Given the description of an element on the screen output the (x, y) to click on. 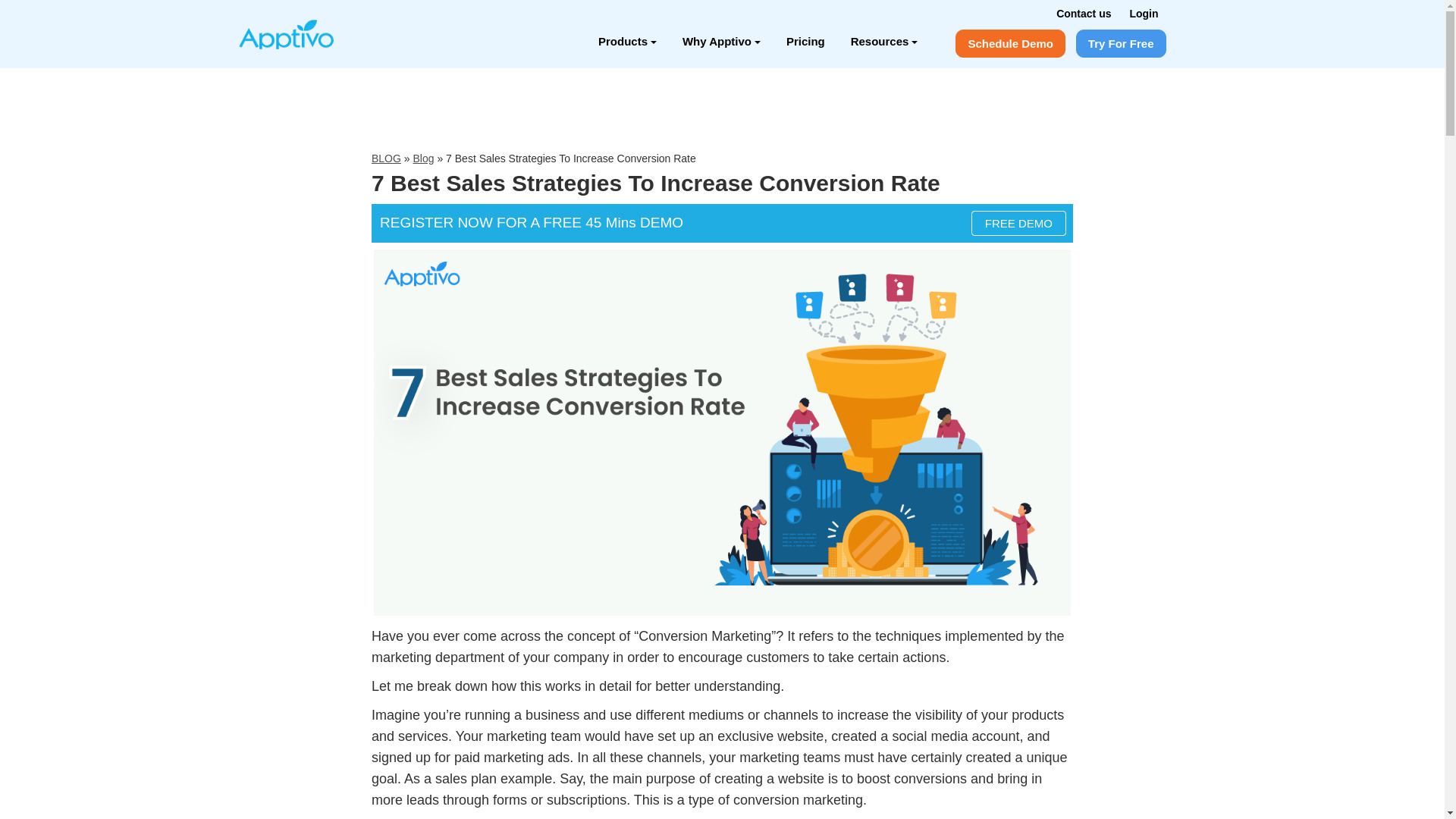
Contact us (1083, 13)
Login (1143, 13)
Products (627, 41)
